Given the description of an element on the screen output the (x, y) to click on. 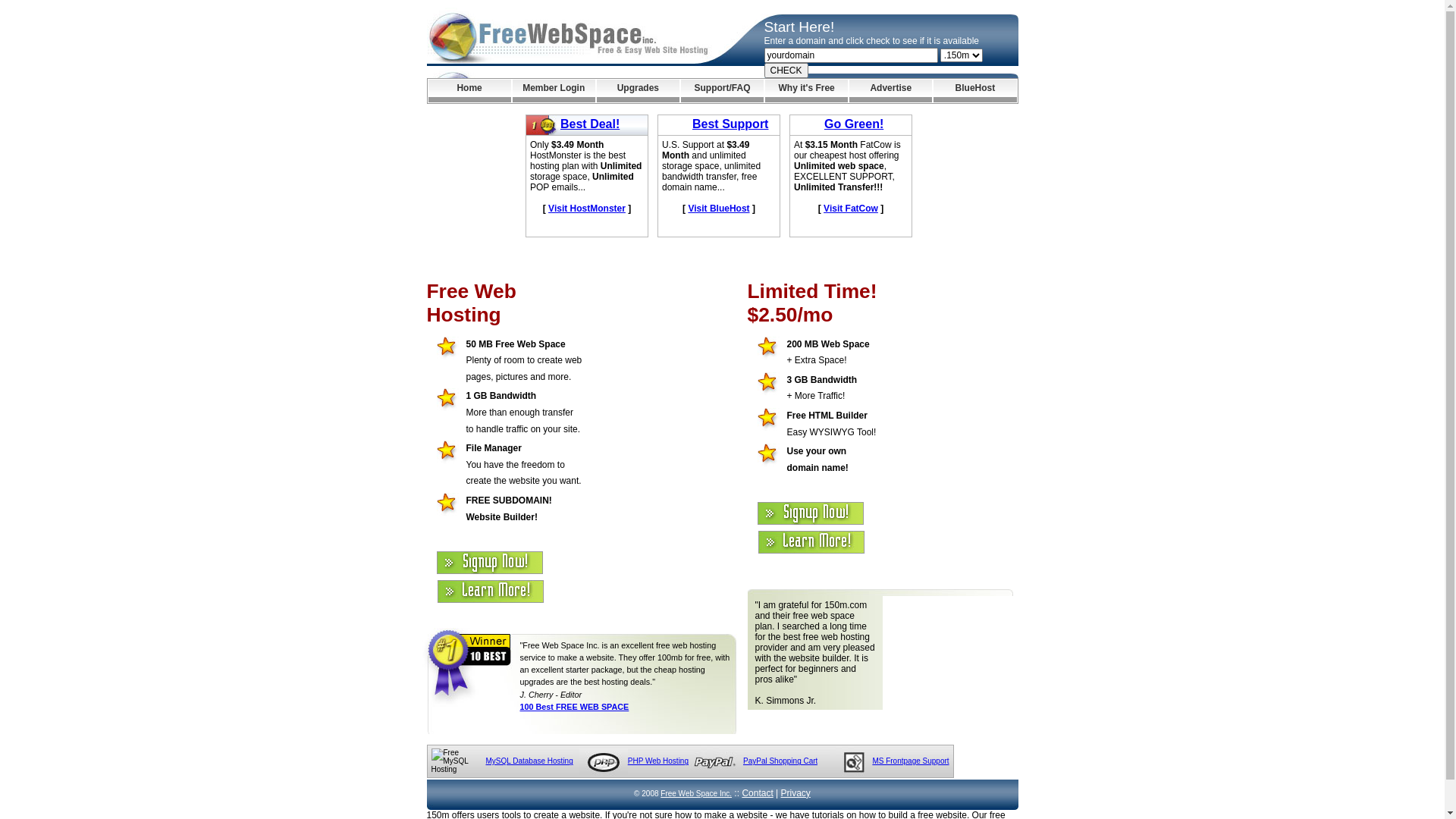
MS Frontpage Support Element type: text (910, 760)
PayPal Shopping Cart Element type: text (780, 760)
Why it's Free Element type: text (806, 90)
BlueHost Element type: text (974, 90)
PHP Web Hosting Element type: text (657, 760)
Member Login Element type: text (553, 90)
Privacy Element type: text (795, 792)
Support/FAQ Element type: text (721, 90)
100 Best FREE WEB SPACE Element type: text (574, 706)
Home Element type: text (468, 90)
Contact Element type: text (756, 792)
CHECK Element type: text (786, 70)
Free Web Space Inc. Element type: text (695, 793)
MySQL Database Hosting Element type: text (528, 760)
Upgrades Element type: text (637, 90)
Advertise Element type: text (890, 90)
